Given the description of an element on the screen output the (x, y) to click on. 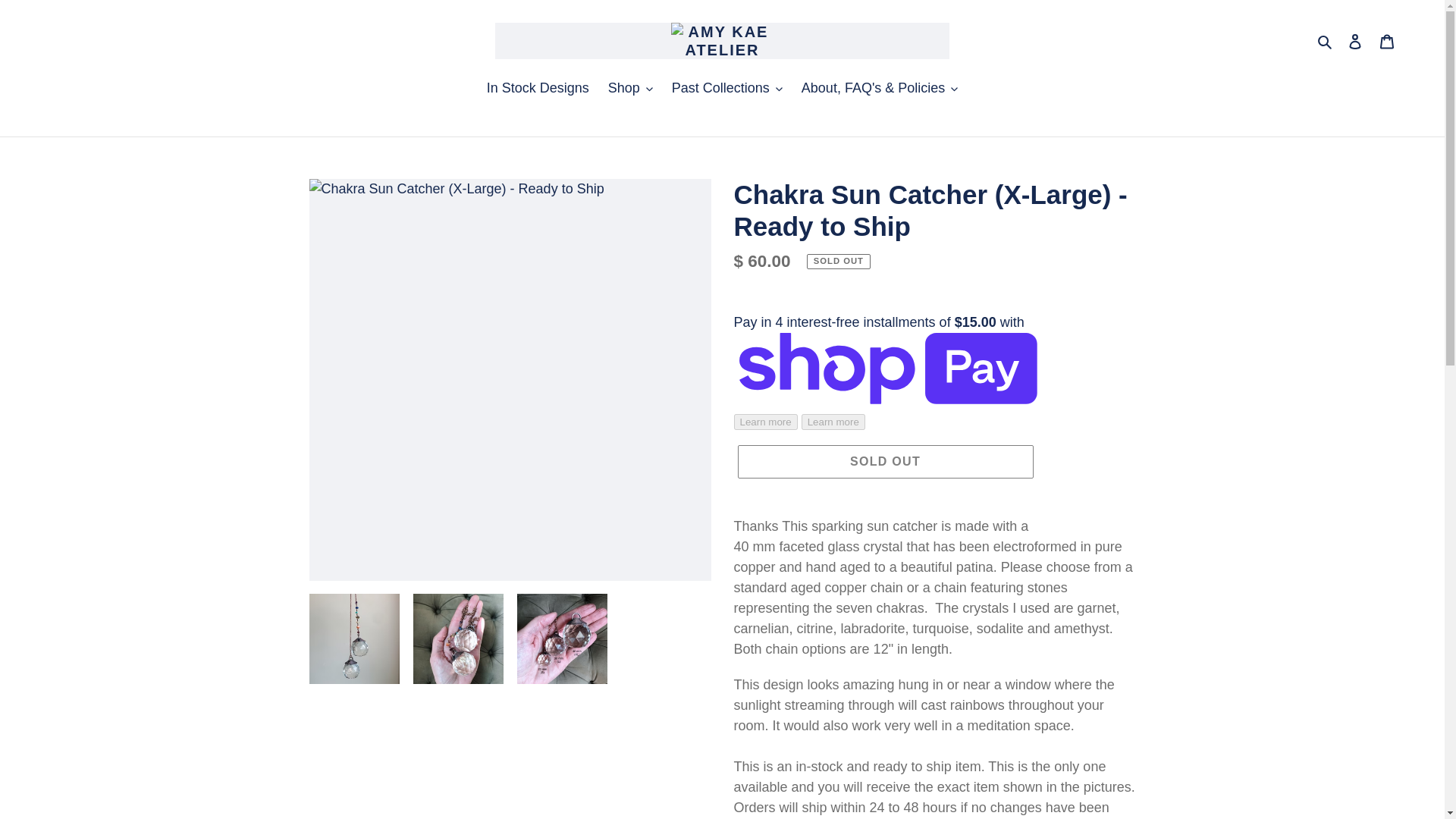
Cart (1387, 40)
Search (1326, 41)
Log in (1355, 40)
